Given the description of an element on the screen output the (x, y) to click on. 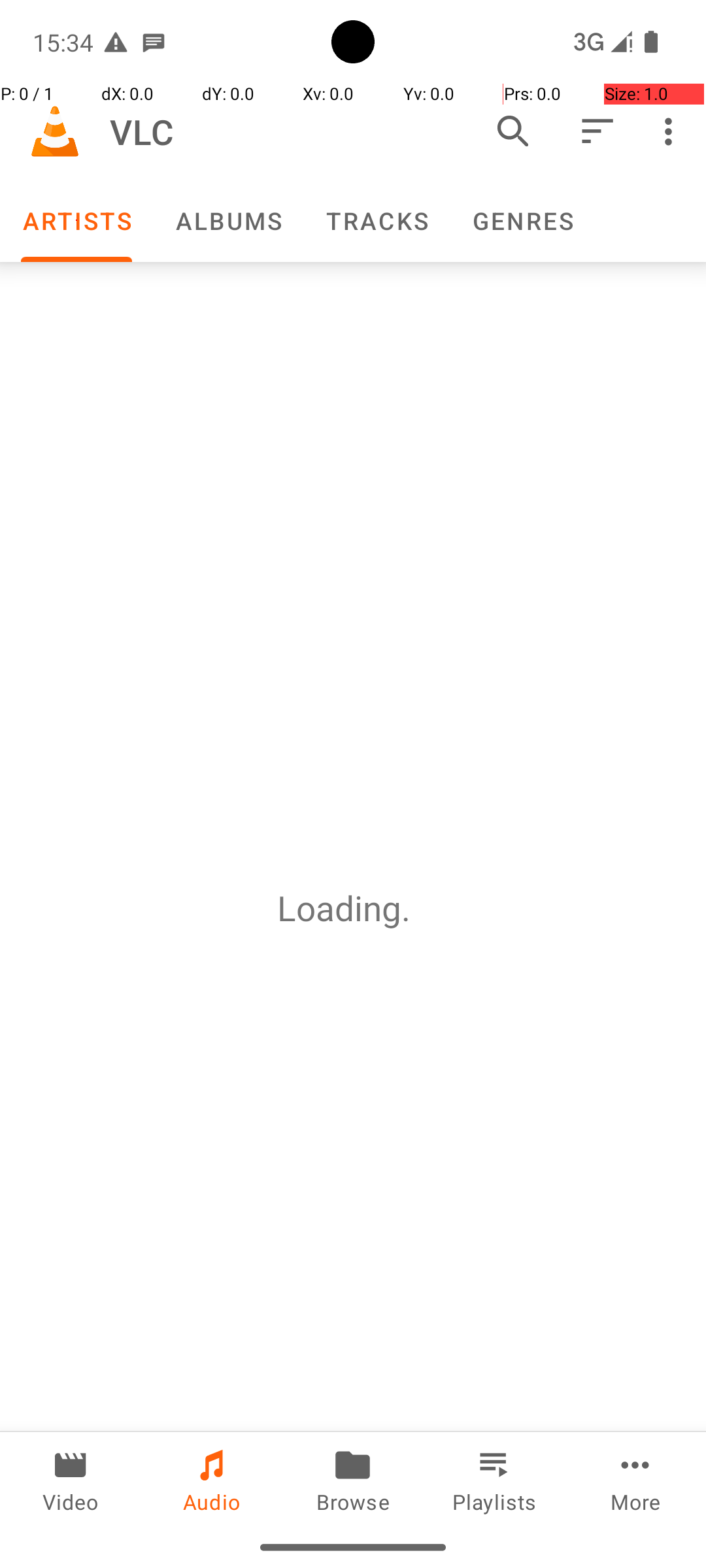
Genres Element type: android.widget.LinearLayout (521, 220)
ARTISTS Element type: android.widget.TextView (76, 220)
ALBUMS Element type: android.widget.TextView (227, 220)
TRACKS Element type: android.widget.TextView (376, 220)
GENRES Element type: android.widget.TextView (521, 220)
